Given the description of an element on the screen output the (x, y) to click on. 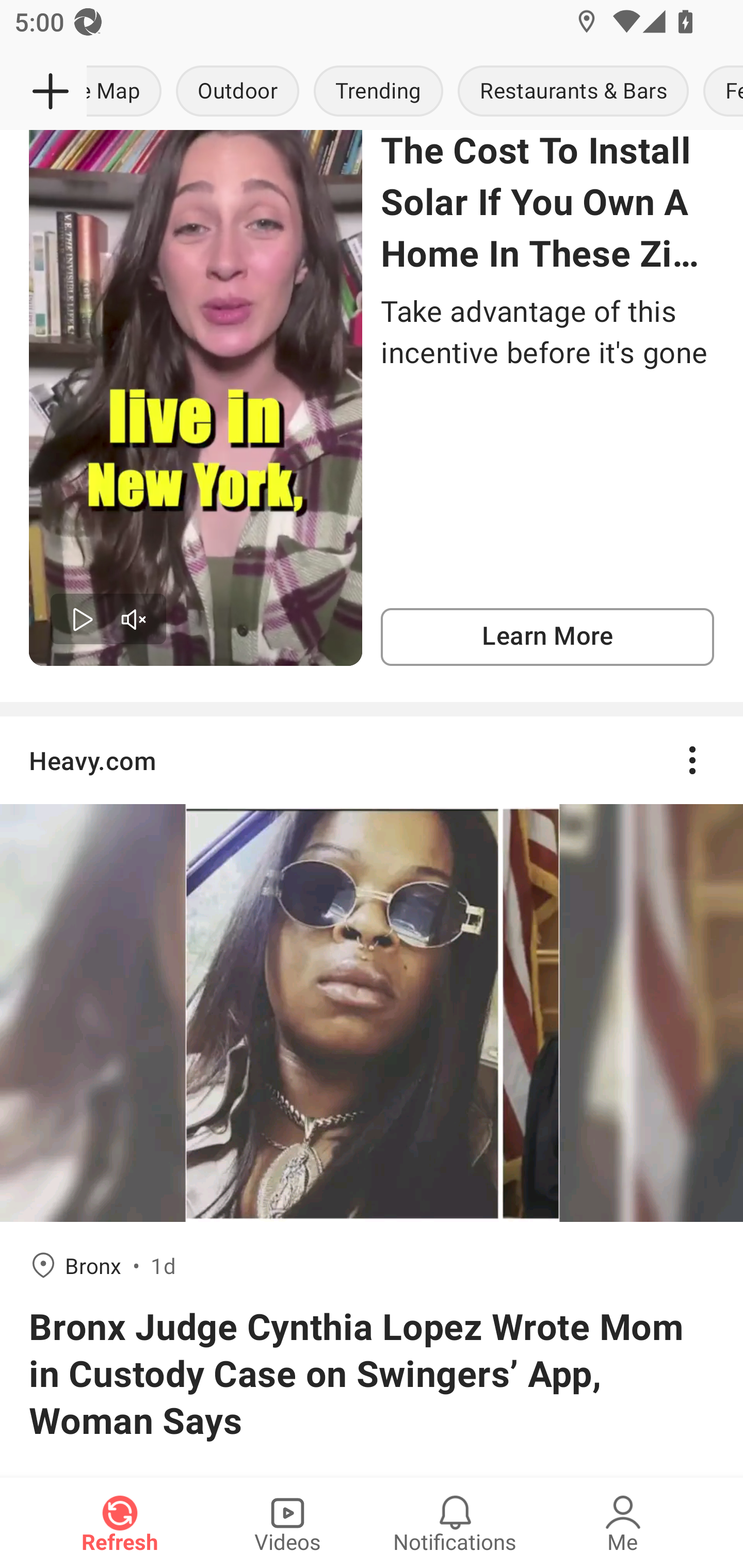
Outdoor (237, 91)
Trending (378, 91)
Restaurants & Bars (573, 91)
Take advantage of this incentive before it's gone (547, 331)
Learn More (547, 637)
Heavy.com (371, 760)
Videos (287, 1522)
Notifications (455, 1522)
Me (622, 1522)
